Given the description of an element on the screen output the (x, y) to click on. 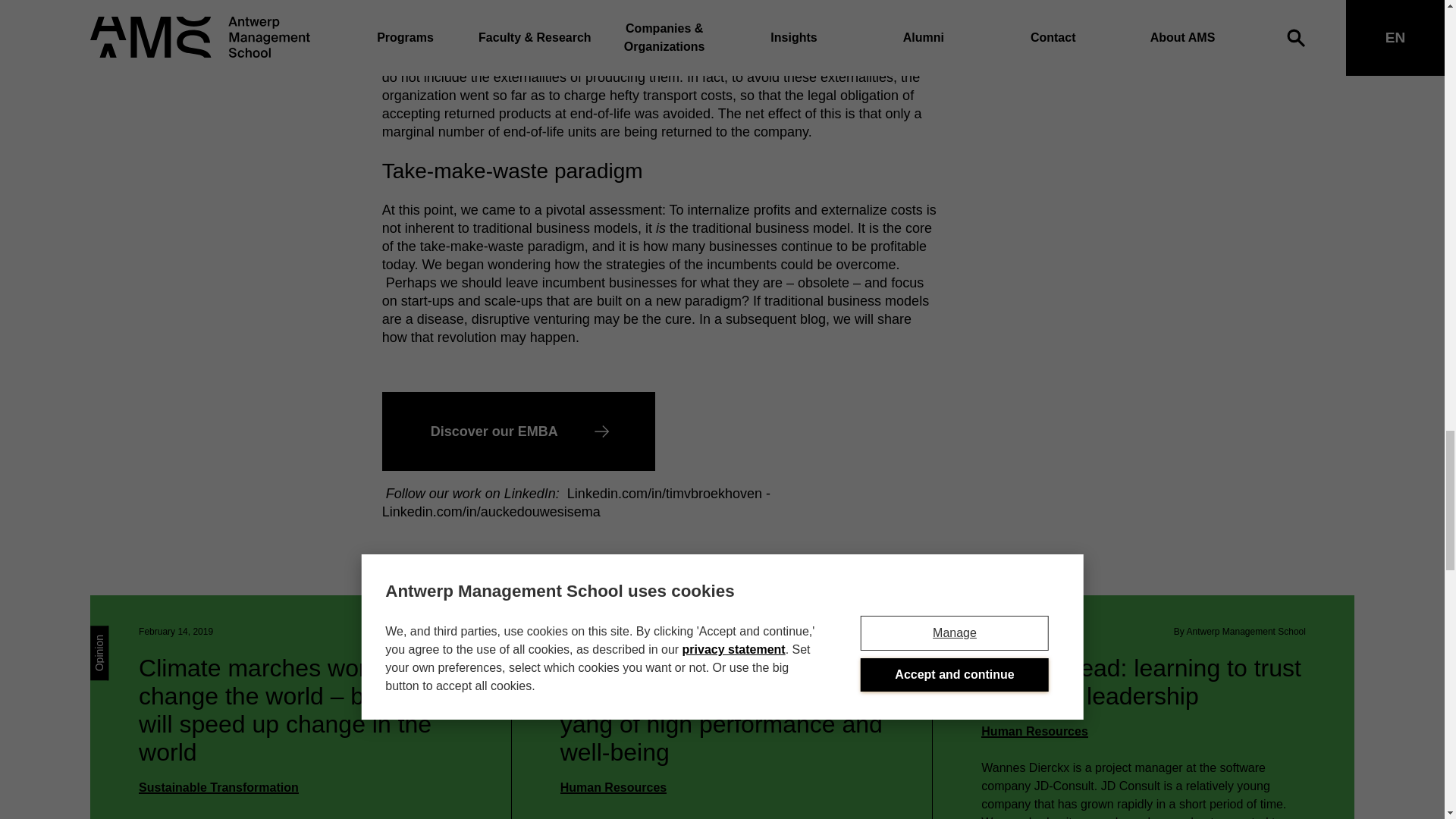
Discover our EMBA (518, 431)
